Given the description of an element on the screen output the (x, y) to click on. 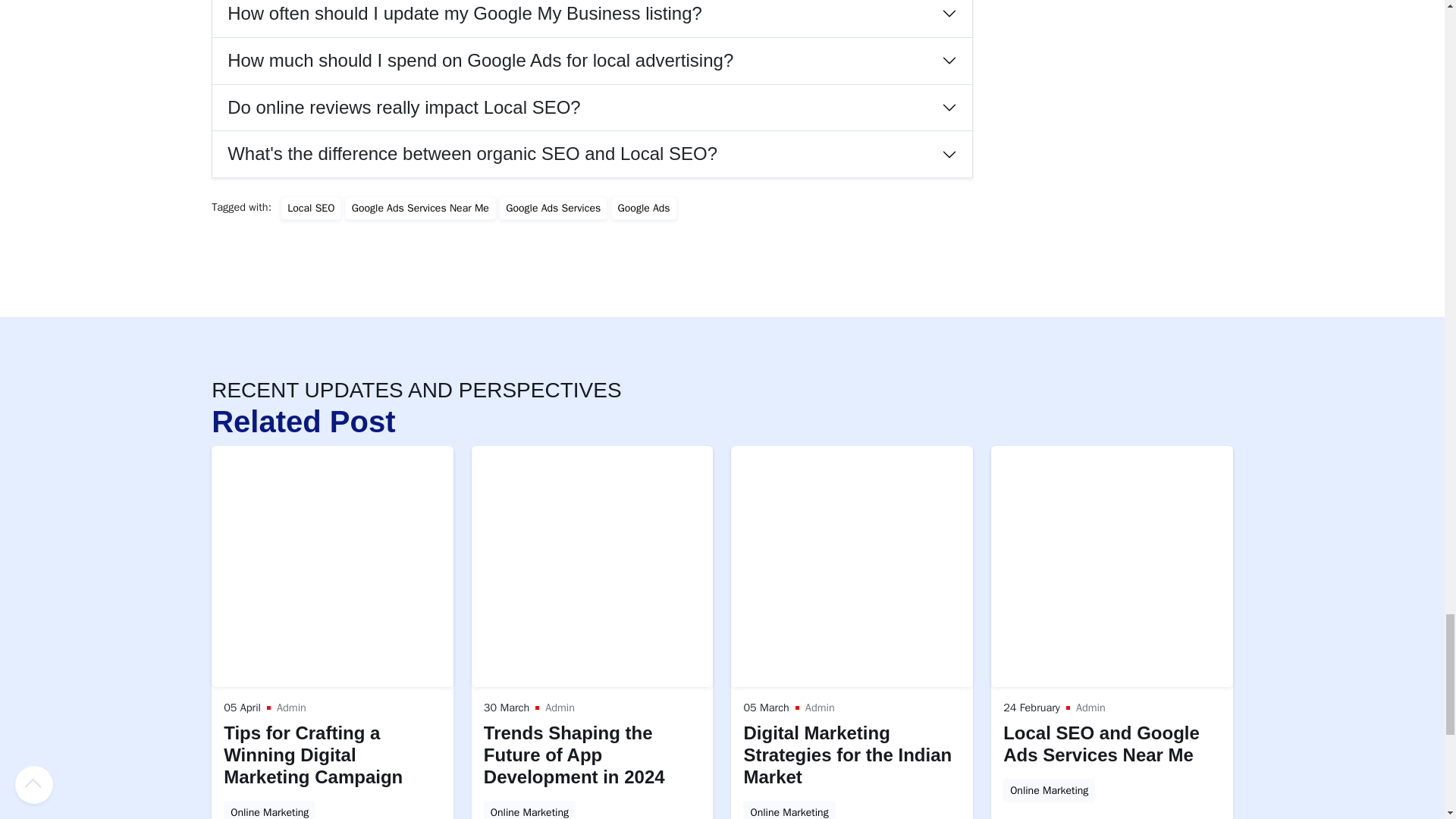
How often should I update my Google My Business listing? (592, 18)
